Given the description of an element on the screen output the (x, y) to click on. 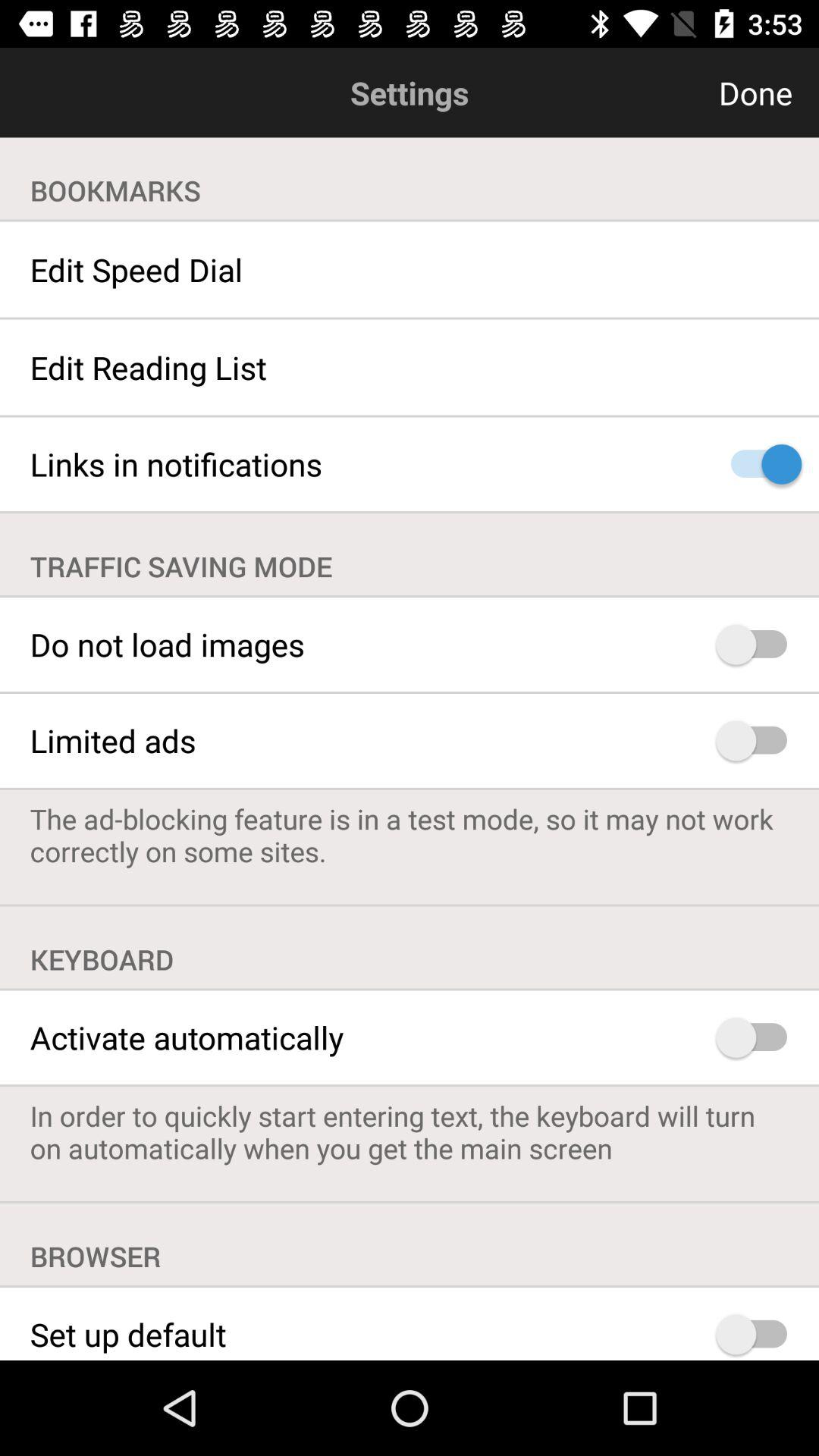
turn off the done item (682, 92)
